Given the description of an element on the screen output the (x, y) to click on. 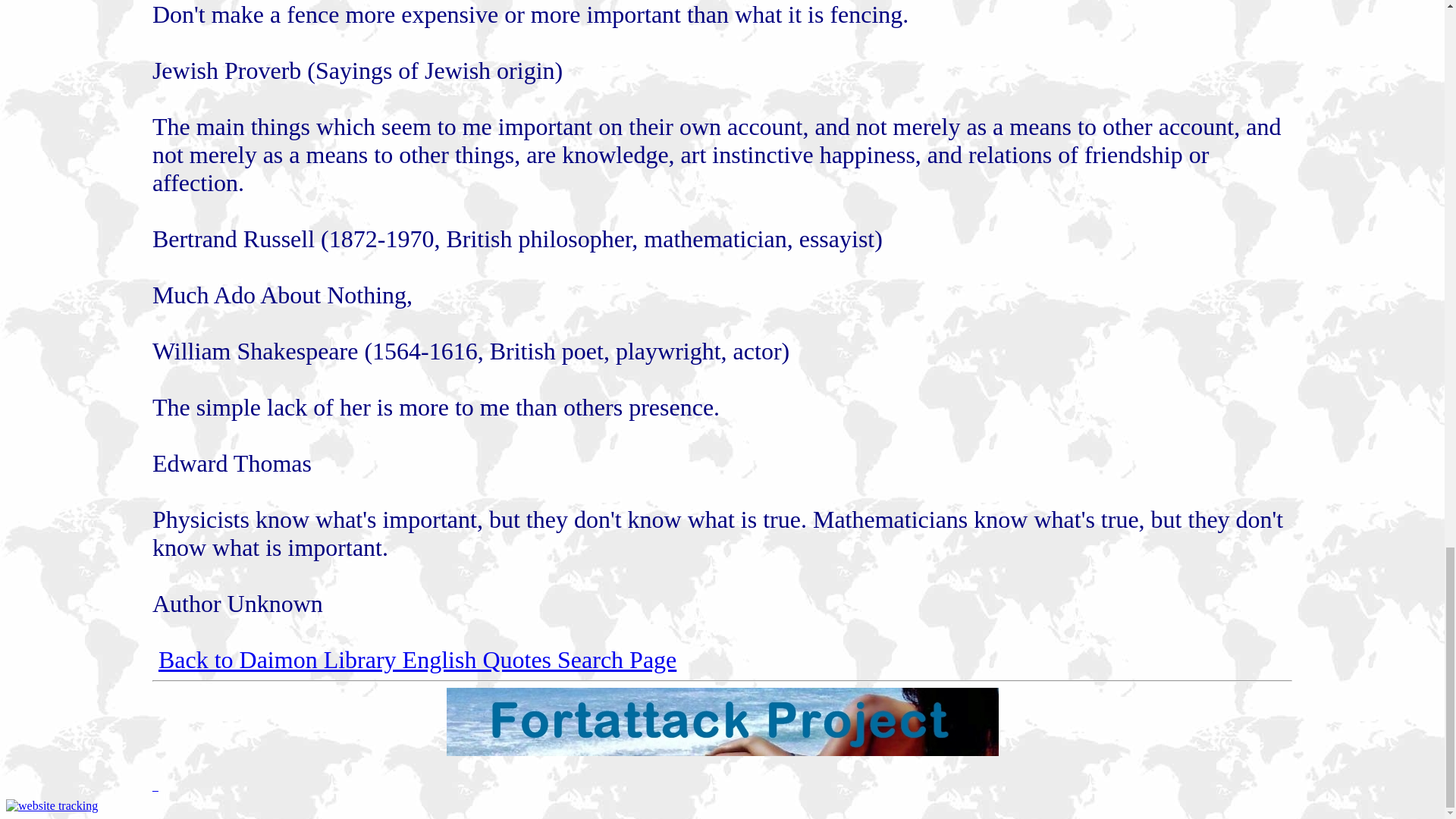
Back to Daimon Library English Quotes Search Page (417, 659)
Fort attack blog project (721, 751)
